Given the description of an element on the screen output the (x, y) to click on. 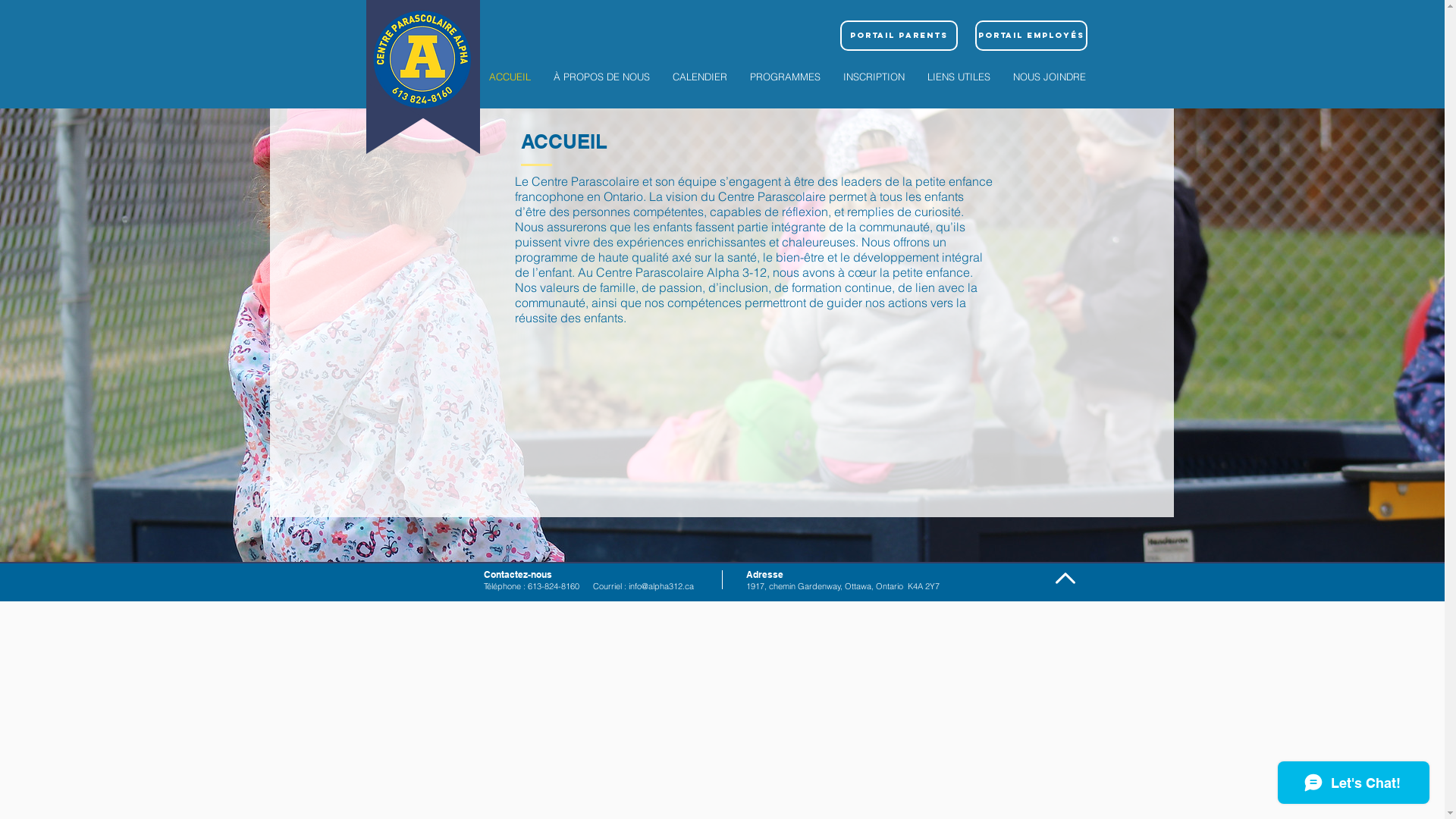
NOUS JOINDRE Element type: text (1048, 76)
INSCRIPTION Element type: text (873, 76)
info@alpha312.ca Element type: text (660, 585)
CALENDIER Element type: text (699, 76)
PORTAIL PARENTS Element type: text (898, 35)
PROGRAMMES Element type: text (784, 76)
ACCUEIL Element type: text (509, 76)
LIENS UTILES Element type: text (958, 76)
